Given the description of an element on the screen output the (x, y) to click on. 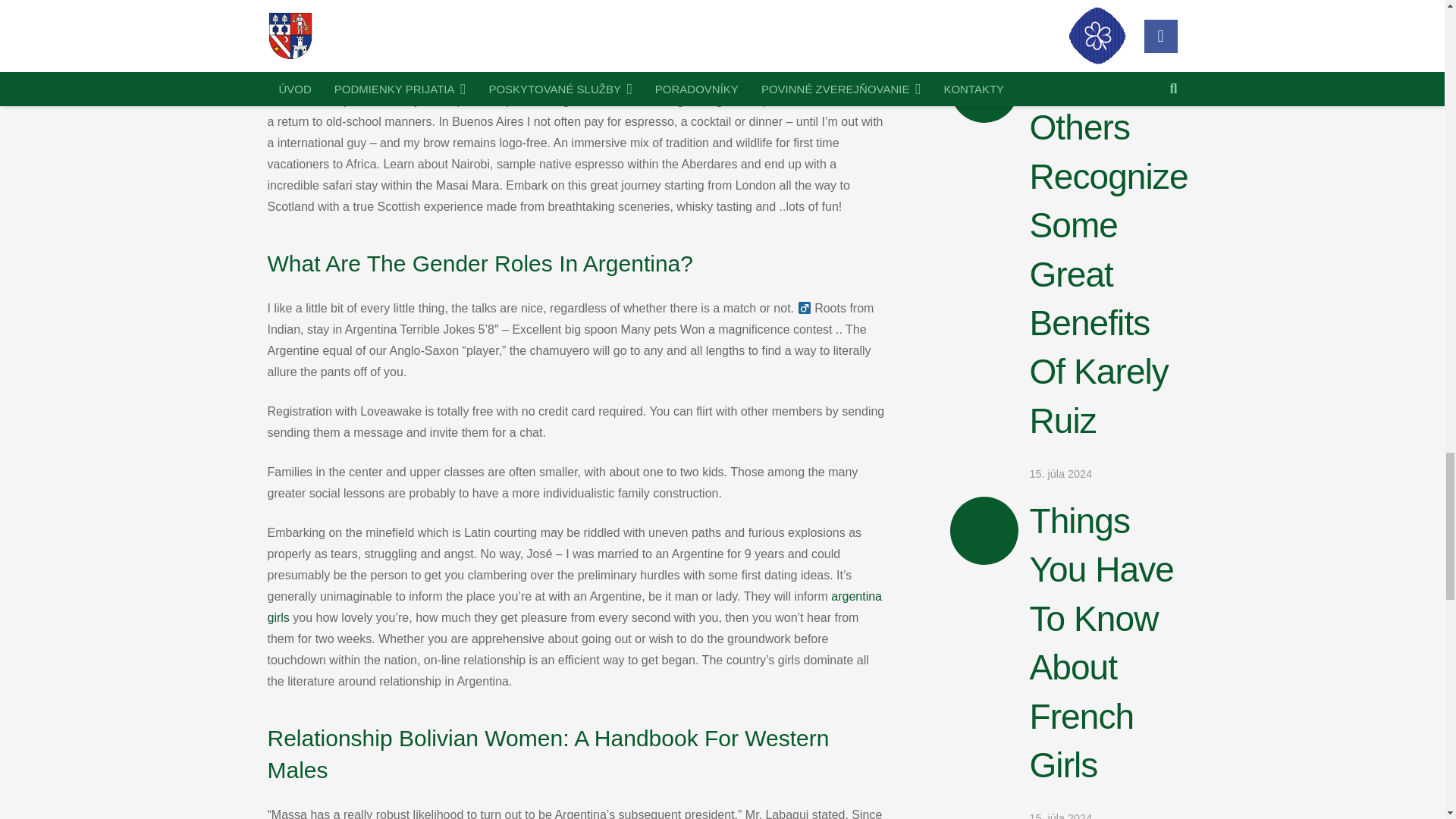
argentina girls (574, 606)
